Given the description of an element on the screen output the (x, y) to click on. 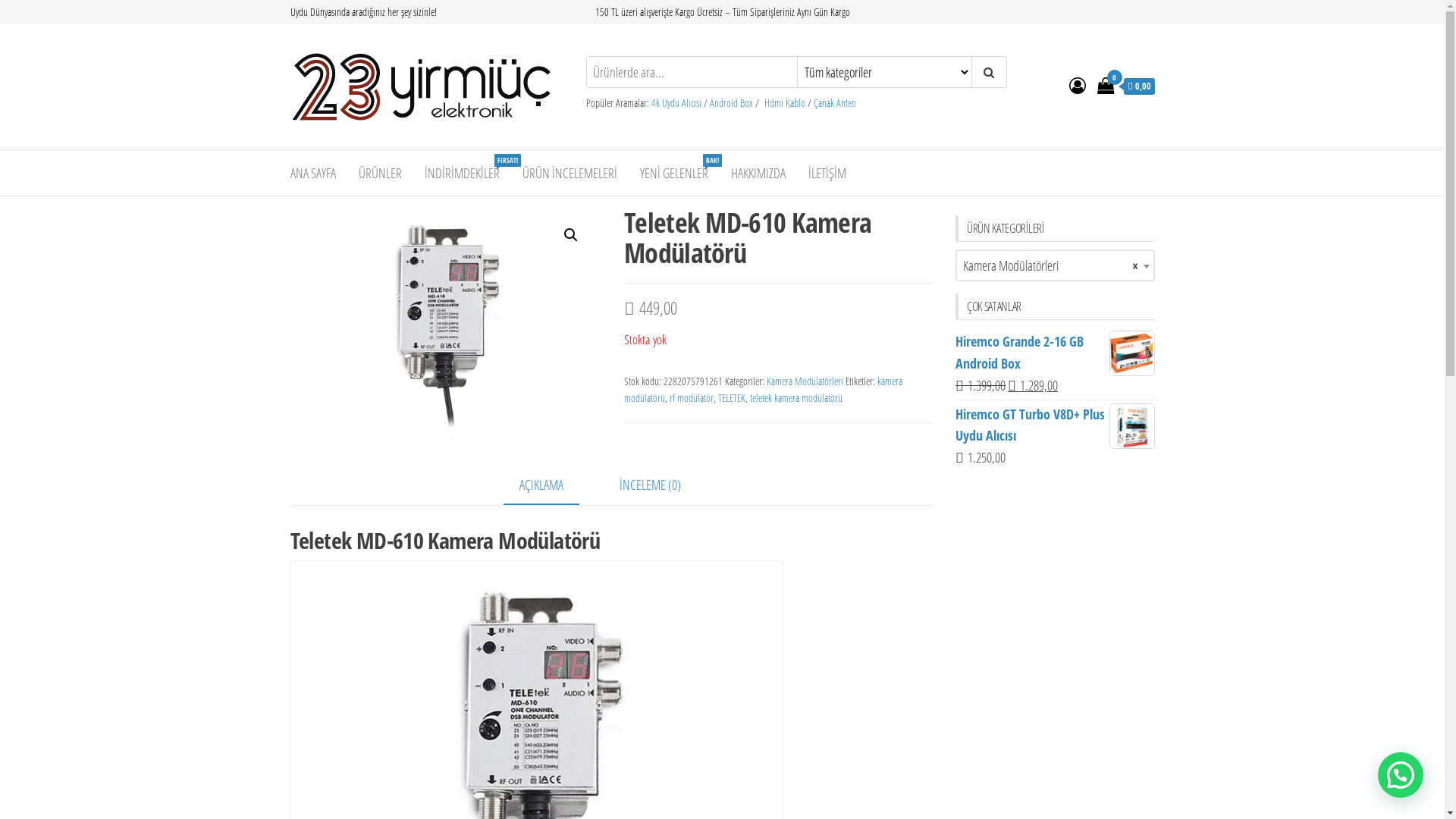
TELETEK Element type: text (731, 397)
HAKKIMIZDA Element type: text (757, 172)
Hdmi Kablo Element type: text (784, 102)
Android Box Element type: text (731, 102)
Hiremco Grande 2-16 GB Android Box Element type: text (1054, 352)
ANA SAYFA Element type: text (313, 172)
23 Elektronik Element type: text (329, 150)
